Given the description of an element on the screen output the (x, y) to click on. 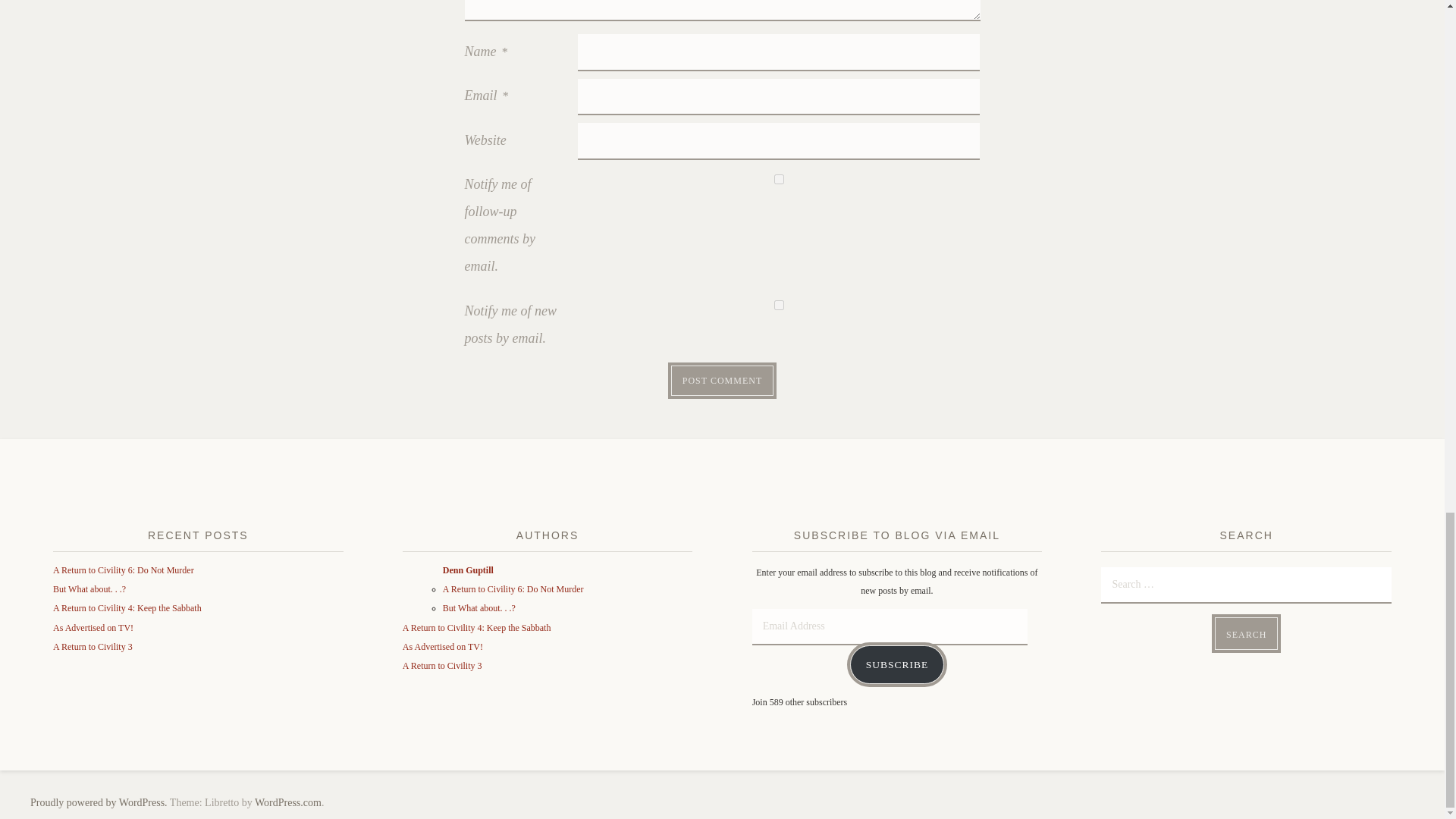
subscribe (779, 305)
A Return to Civility 4: Keep the Sabbath (477, 627)
Denn Guptill (467, 570)
Post Comment (722, 380)
Search (1246, 633)
A Return to Civility 6: Do Not Murder (512, 588)
A Return to Civility 6: Do Not Murder (512, 588)
A Return to Civility 4: Keep the Sabbath (127, 607)
Post Comment (722, 380)
Search (1246, 633)
As Advertised on TV! (443, 646)
SUBSCRIBE (897, 664)
A Return to Civility 6: Do Not Murder (122, 570)
Proudly powered by WordPress. (98, 802)
A Return to Civility 3 (442, 665)
